Given the description of an element on the screen output the (x, y) to click on. 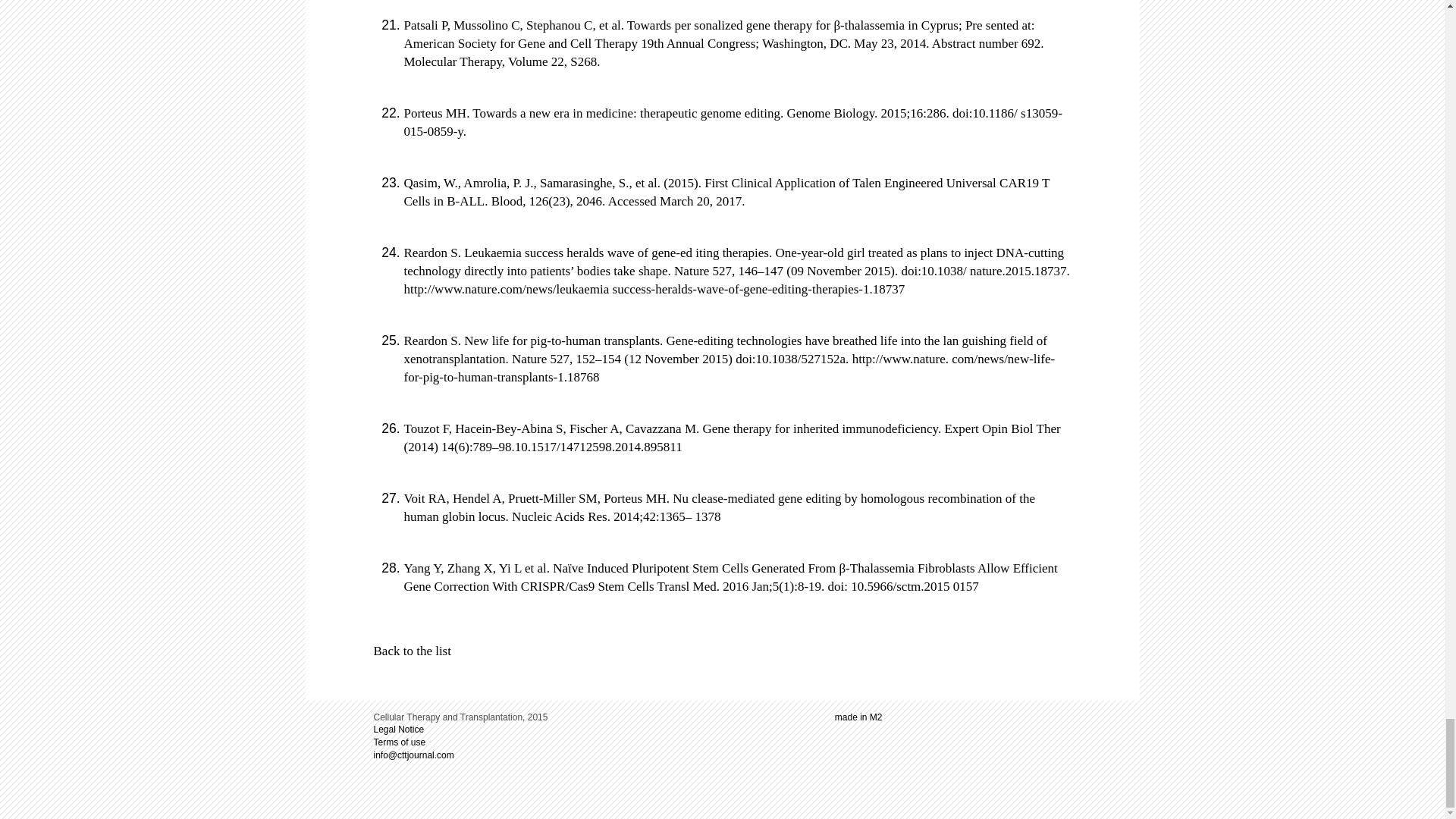
Terms of use (398, 742)
Back to the list (410, 650)
made in M2 (858, 716)
Legal Notice (397, 728)
